Given the description of an element on the screen output the (x, y) to click on. 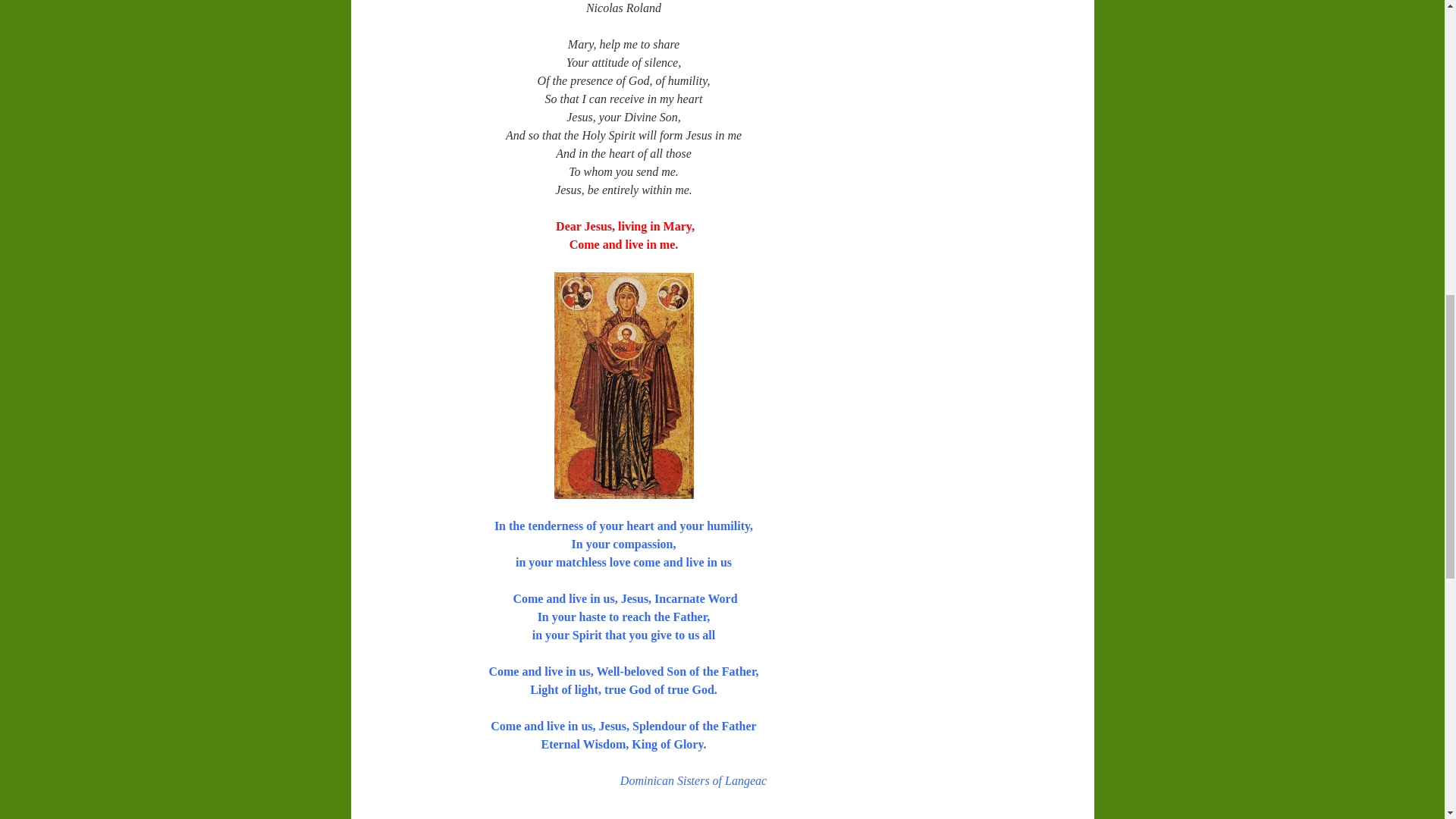
Print (497, 817)
Facebook (453, 817)
Email (476, 817)
Twitter (433, 817)
